Given the description of an element on the screen output the (x, y) to click on. 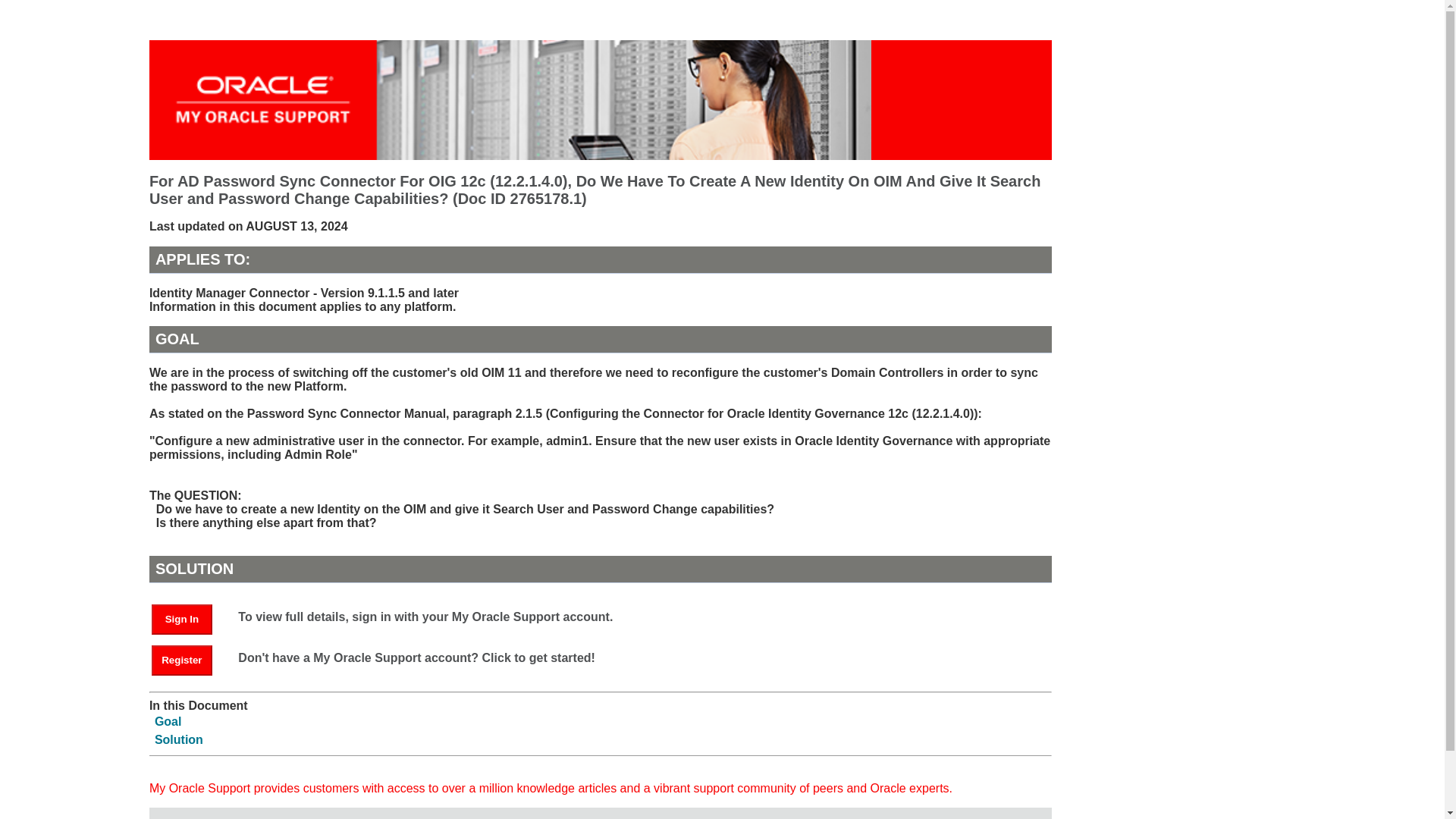
Solution (178, 739)
Register (189, 658)
Register (181, 660)
Goal (168, 721)
Sign In (189, 617)
Sign In (181, 619)
